Given the description of an element on the screen output the (x, y) to click on. 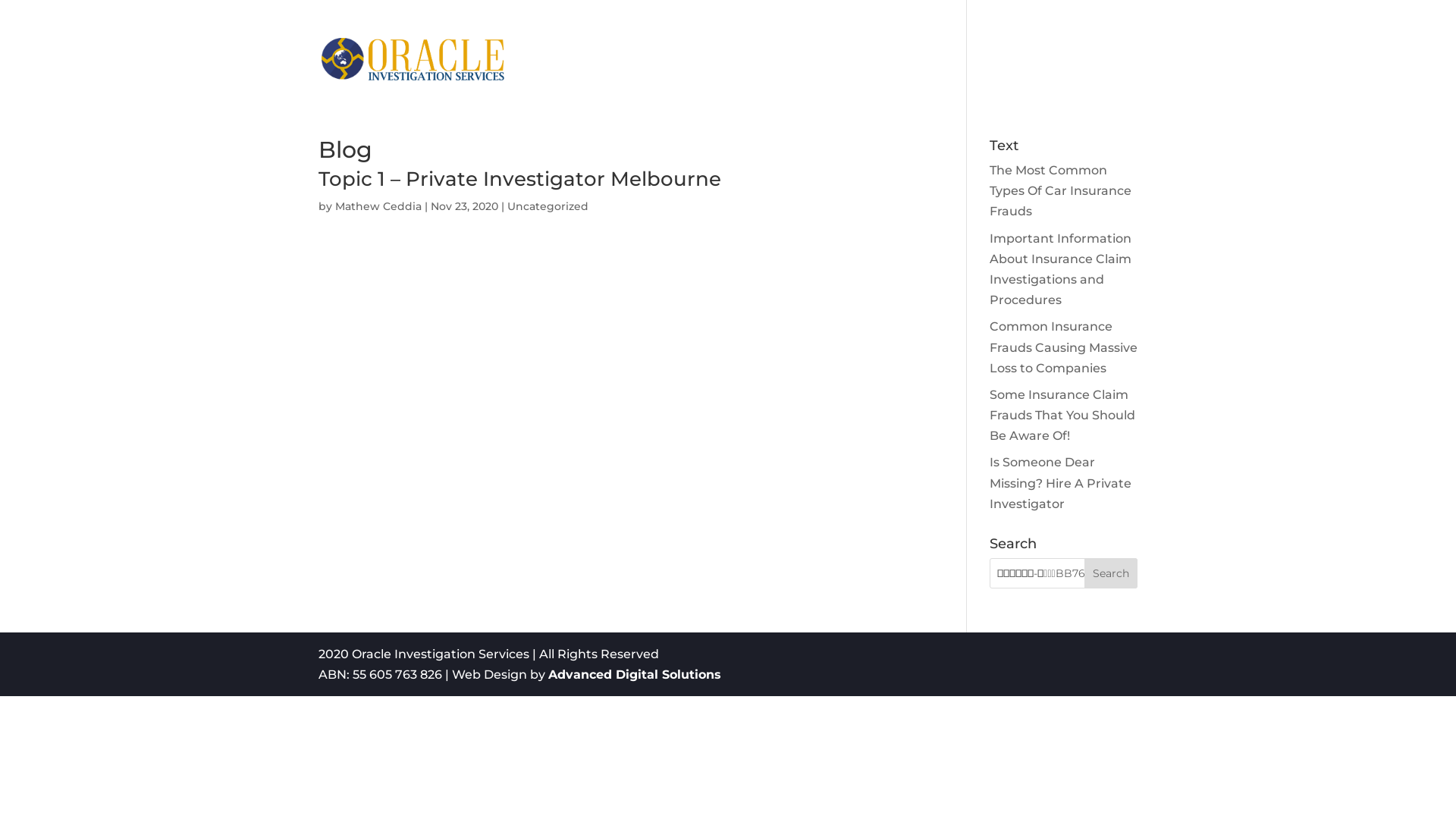
Mathew Ceddia Element type: text (378, 206)
Some Insurance Claim Frauds That You Should Be Aware Of! Element type: text (1062, 414)
Uncategorized Element type: text (547, 206)
info@oisglobal.com.au Element type: text (470, 11)
HOME Element type: text (601, 73)
Advanced Digital Solutions Element type: text (634, 674)
Is Someone Dear Missing? Hire A Private Investigator Element type: text (1060, 482)
BLOG Element type: text (1119, 73)
CONTACT US Element type: text (1048, 73)
INVESTIGATIONS SERVICES Element type: text (863, 73)
Search Element type: text (1110, 573)
Common Insurance Frauds Causing Massive Loss to Companies Element type: text (1063, 346)
COMPANY PROFILE Element type: text (695, 73)
(03) 9938 7088 Element type: text (365, 11)
The Most Common Types Of Car Insurance Frauds Element type: text (1060, 190)
FAQ Element type: text (982, 73)
